Given the description of an element on the screen output the (x, y) to click on. 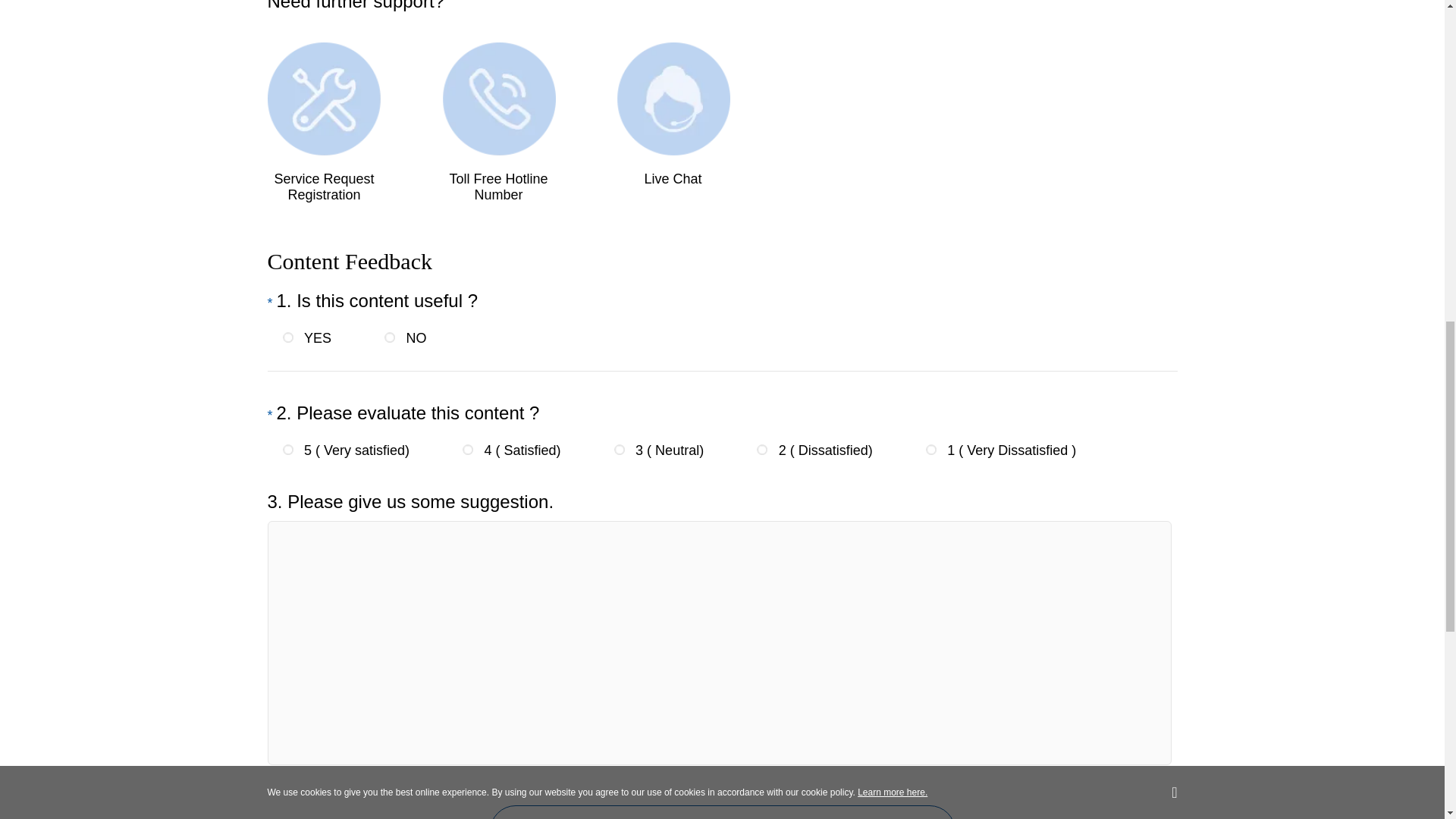
Service Request Registration (323, 122)
